Given the description of an element on the screen output the (x, y) to click on. 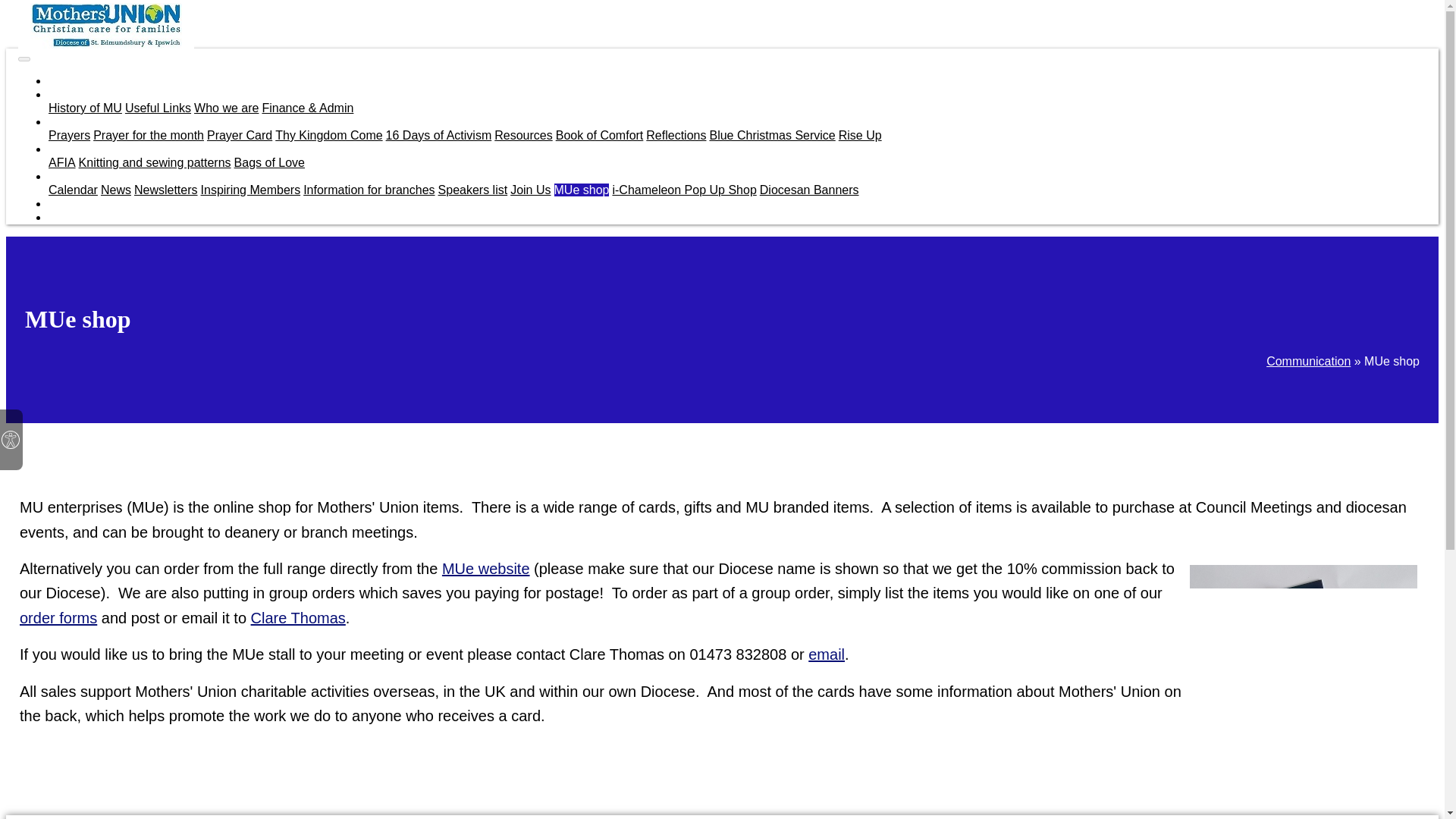
i-Chameleon Pop Up Shop (683, 189)
Home (64, 80)
Useful Links (157, 107)
History of MU (85, 107)
Prayer for the month (148, 134)
Information for branches (367, 189)
Bags of Love (269, 162)
News (115, 189)
MUe shop (582, 189)
Newsletters (165, 189)
Reflections (676, 134)
Blue Christmas Service (771, 134)
Who we are (226, 107)
Resources (523, 134)
Our Faith (73, 121)
